Given the description of an element on the screen output the (x, y) to click on. 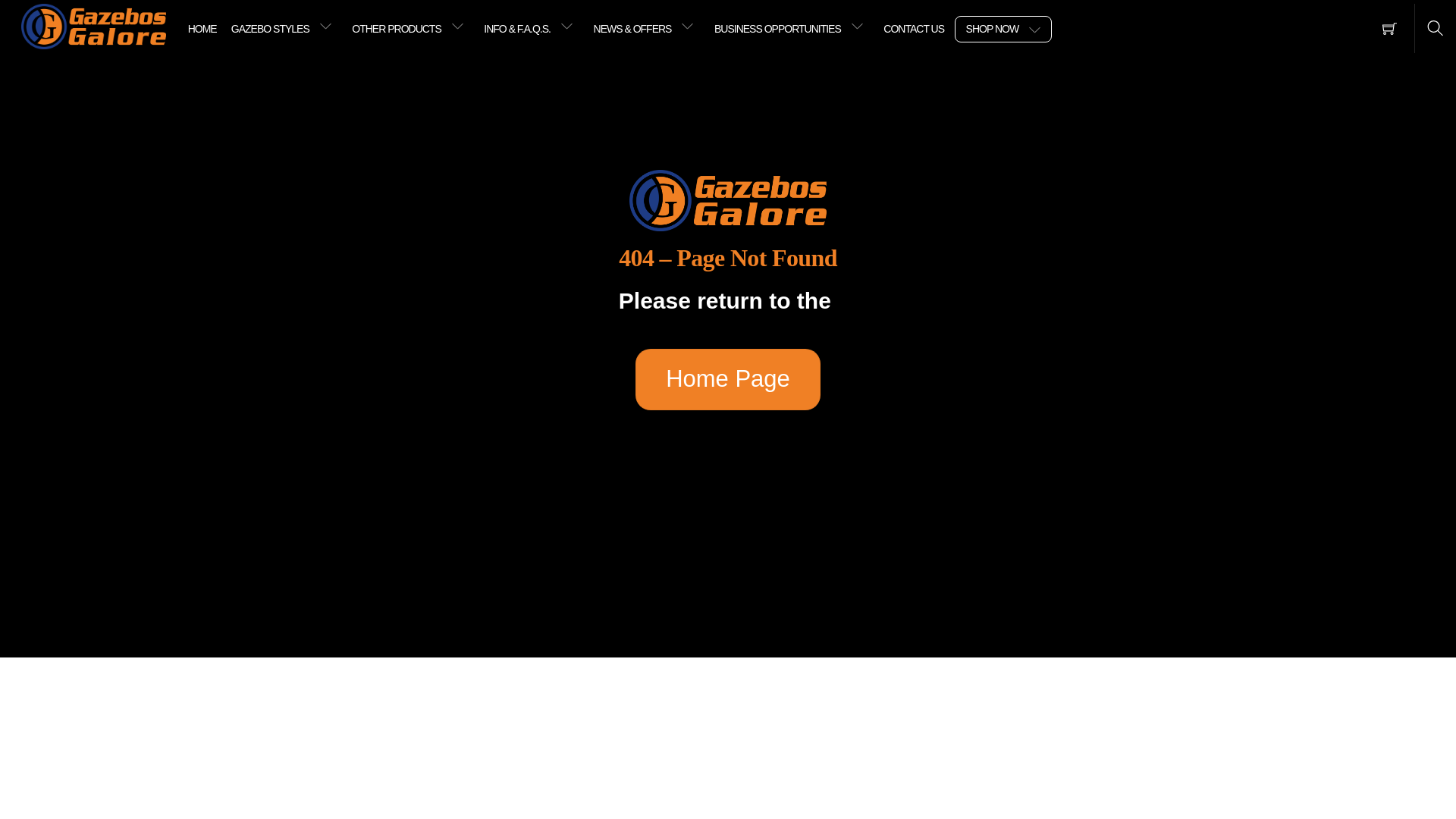
OTHER PRODUCTS (410, 26)
Logo-Original-Small (93, 26)
GAZEBO STYLES (284, 26)
404 Page Not Found (727, 200)
Australian Gazebos by Gazebos Galore (93, 25)
